Given the description of an element on the screen output the (x, y) to click on. 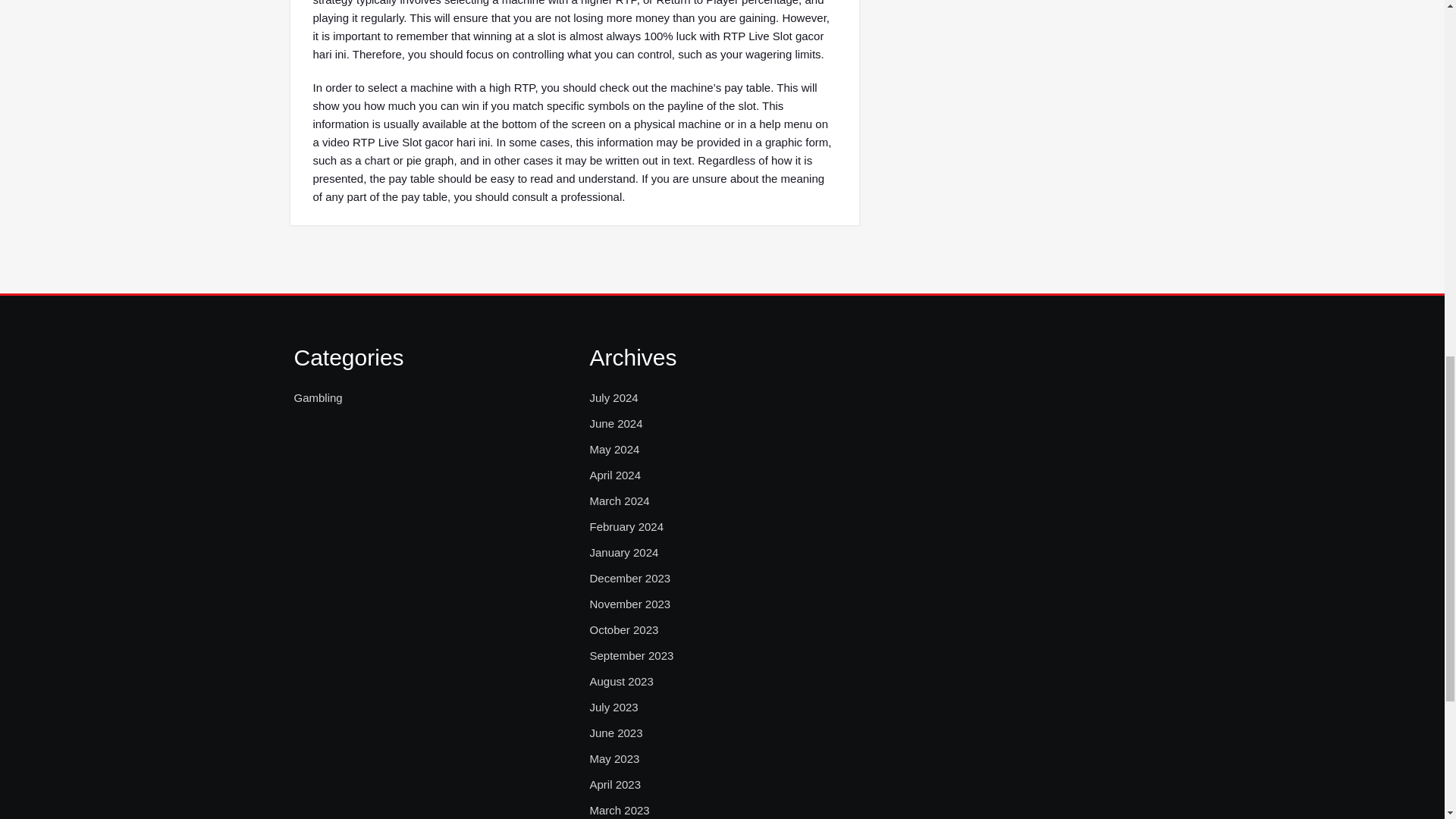
March 2023 (619, 810)
July 2024 (613, 398)
April 2023 (614, 784)
October 2023 (623, 629)
March 2024 (619, 501)
Gambling (318, 398)
September 2023 (630, 656)
June 2023 (615, 732)
August 2023 (620, 681)
May 2023 (614, 759)
April 2024 (614, 475)
July 2023 (613, 707)
December 2023 (629, 578)
January 2024 (623, 552)
February 2024 (626, 526)
